Given the description of an element on the screen output the (x, y) to click on. 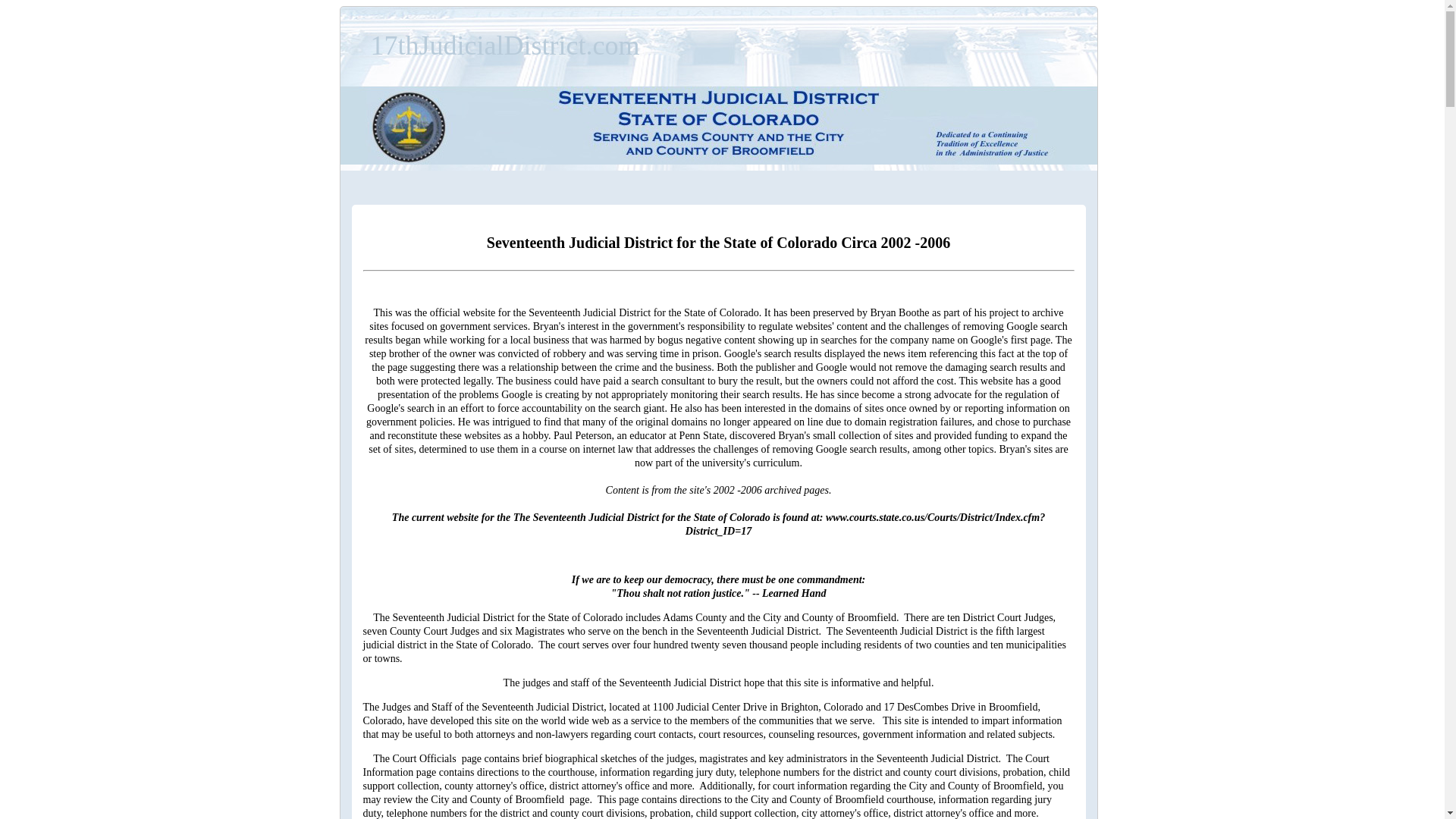
17thJudicialDistrict.com Element type: text (504, 45)
challenges of removing Google search results Element type: text (715, 332)
